Given the description of an element on the screen output the (x, y) to click on. 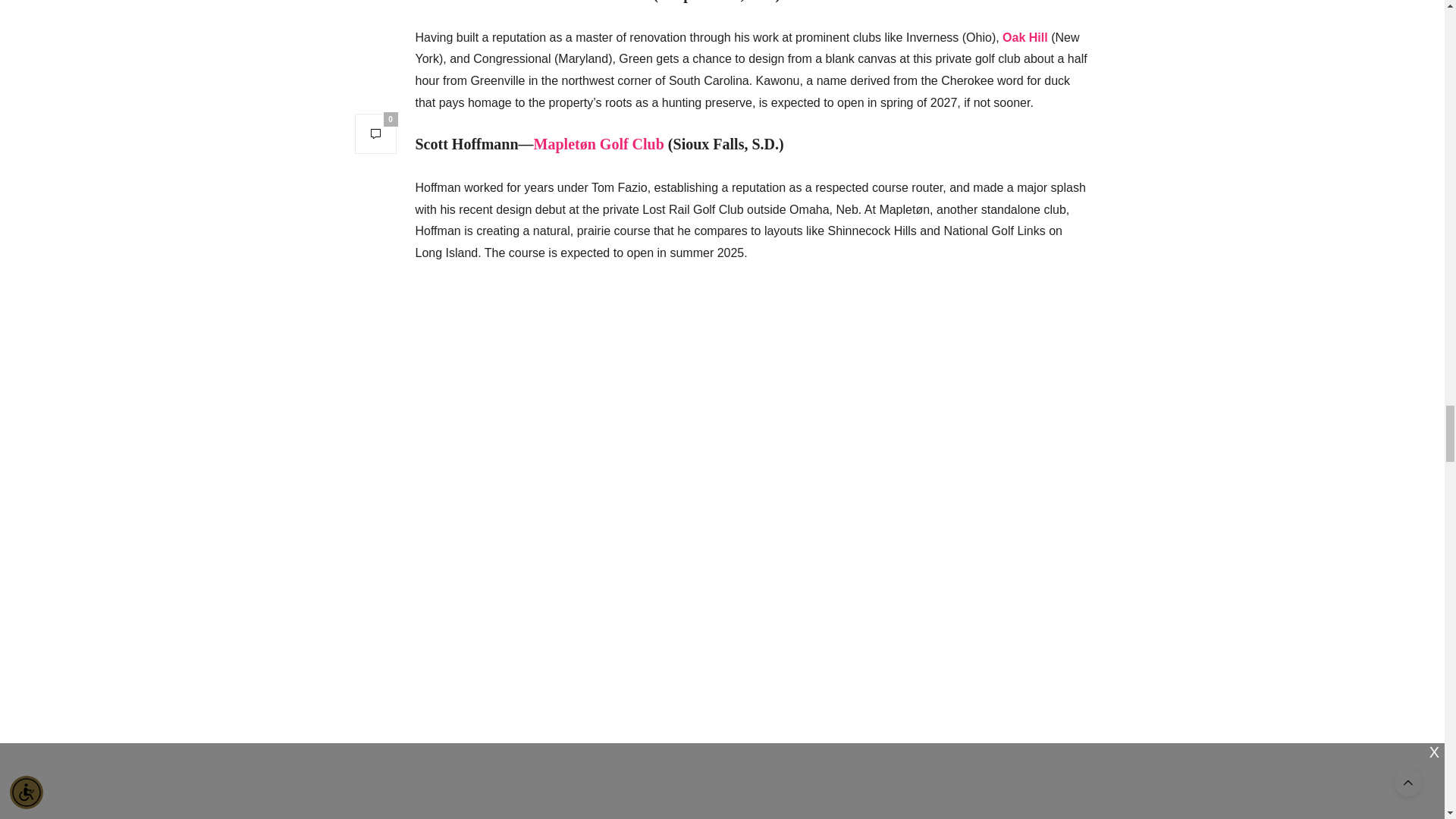
3rd party ad content (751, 317)
